Given the description of an element on the screen output the (x, y) to click on. 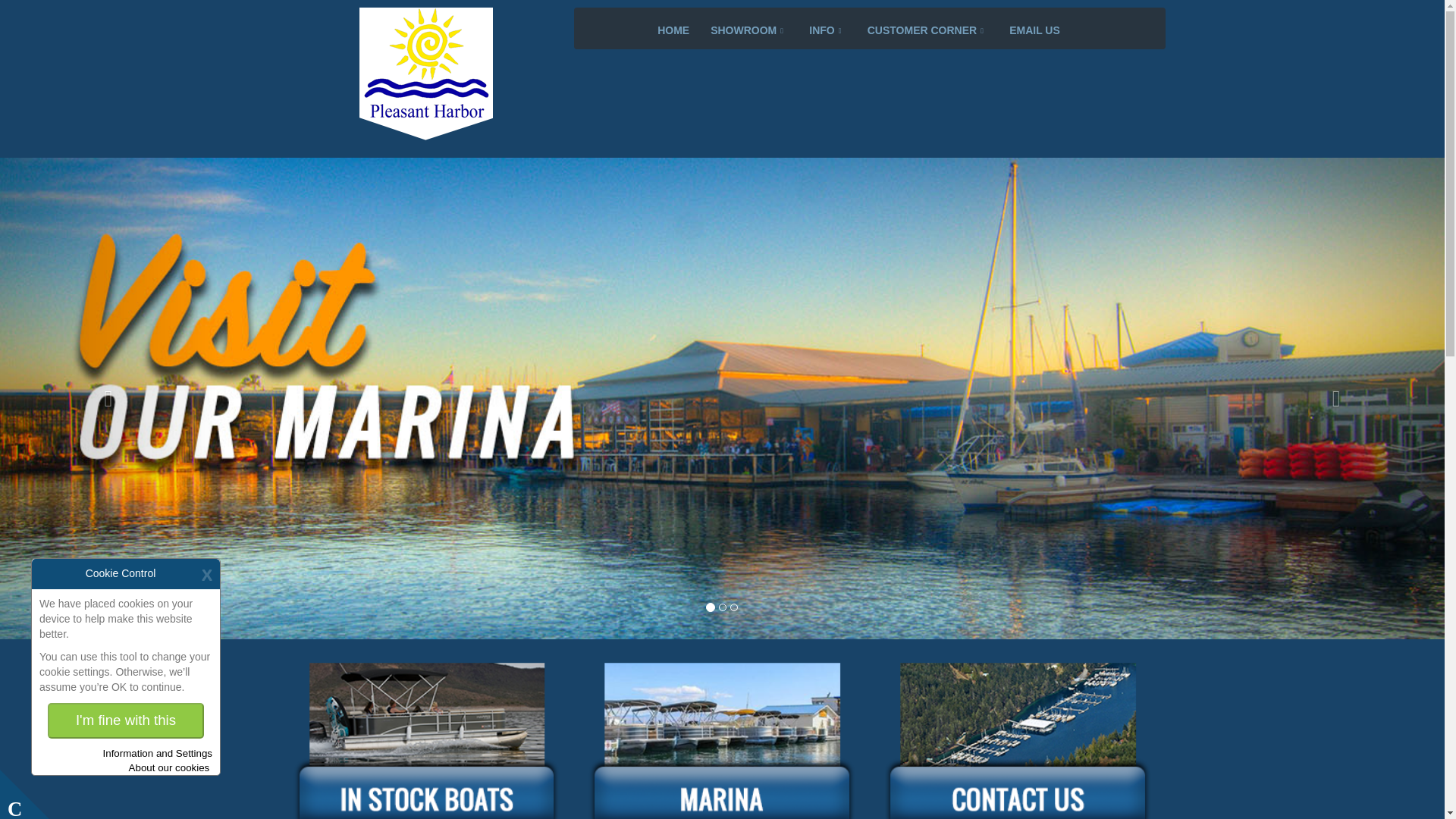
CUSTOMER CORNER (927, 30)
C (24, 794)
SHOWROOM (748, 30)
About our cookies (170, 767)
CUSTOMER CORNER (927, 30)
HOME (673, 30)
INFO (826, 30)
Information and Settings (157, 753)
SHOWROOM (748, 30)
I'm fine with this (125, 720)
EMAIL US (1034, 30)
HOME (673, 30)
EMAIL US (1034, 30)
INFO (826, 30)
